Given the description of an element on the screen output the (x, y) to click on. 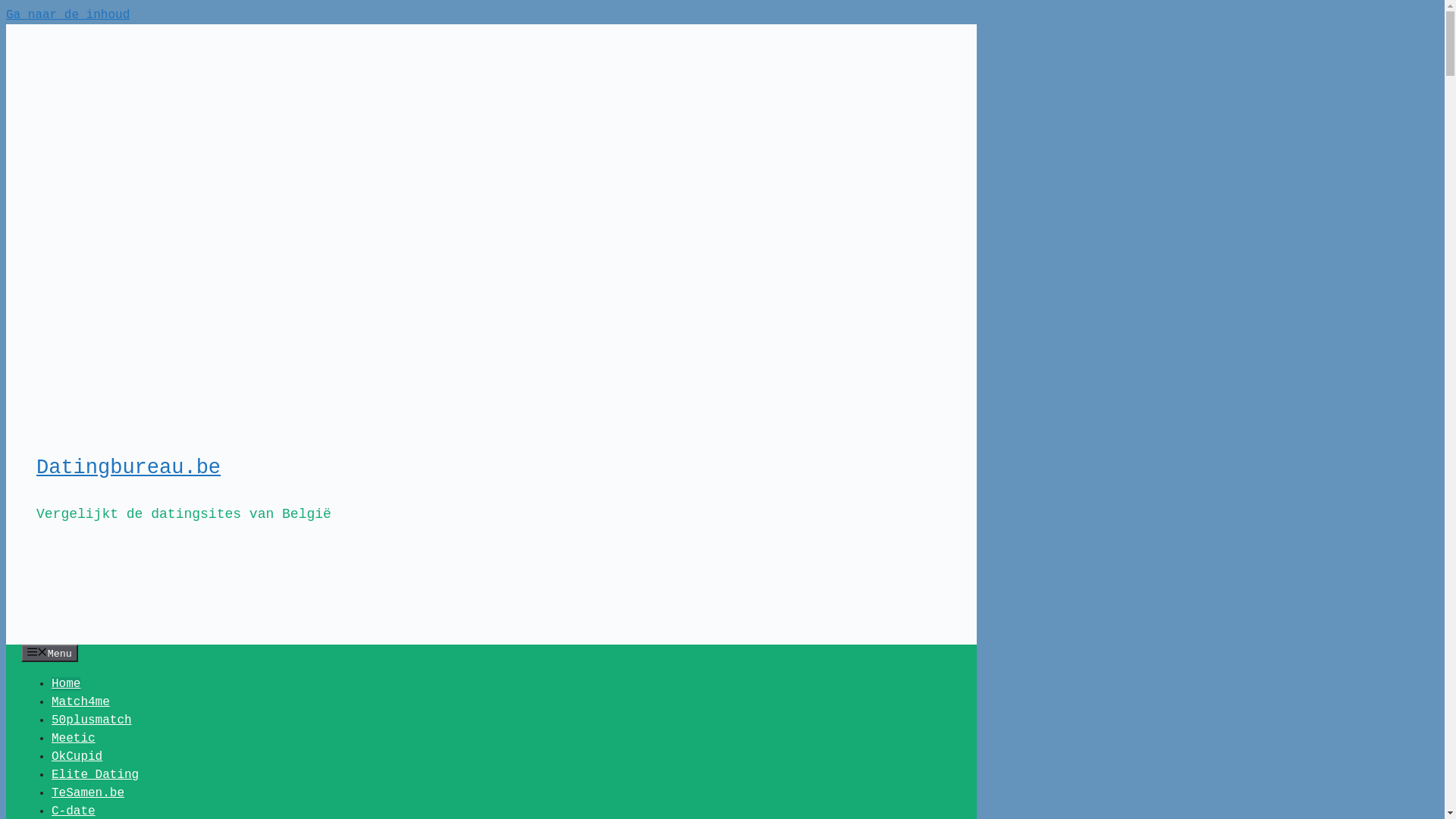
50plusmatch Element type: text (91, 720)
Menu Element type: text (49, 653)
Elite Dating Element type: text (94, 774)
C-date Element type: text (73, 811)
Datingbureau.be Element type: text (128, 467)
Ga naar de inhoud Element type: text (67, 14)
Home Element type: text (65, 683)
OkCupid Element type: text (76, 756)
TeSamen.be Element type: text (87, 793)
Meetic Element type: text (73, 738)
Match4me Element type: text (80, 702)
